Given the description of an element on the screen output the (x, y) to click on. 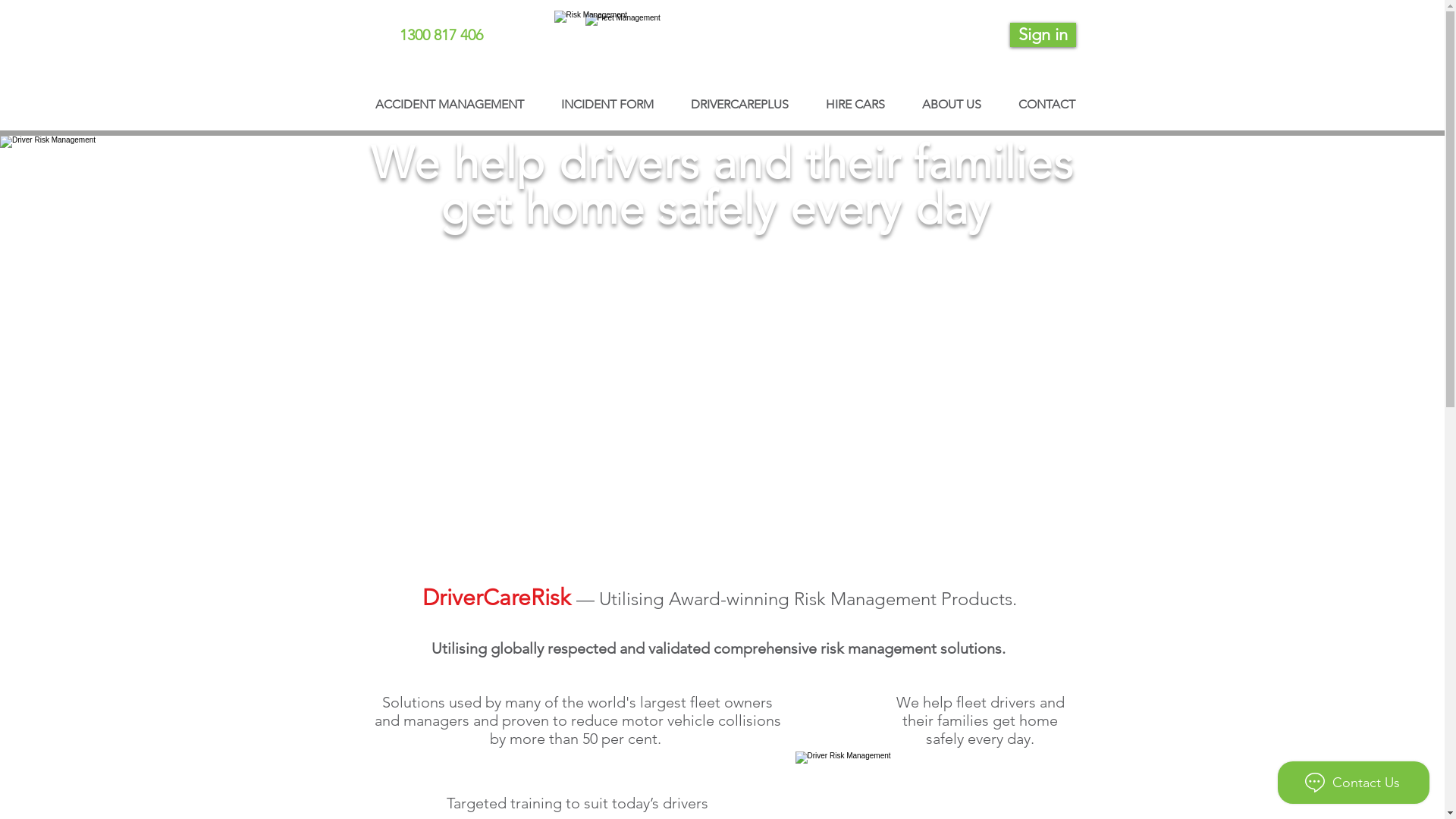
INCIDENT FORM Element type: text (607, 97)
CONTACT Element type: text (1046, 97)
1300 817 406 Element type: text (440, 34)
HIRE CARS Element type: text (854, 97)
DRIVERCAREPLUS Element type: text (738, 97)
Sign in Element type: text (1043, 34)
ACCIDENT MANAGEMENT Element type: text (449, 97)
ABOUT US Element type: text (951, 97)
